Given the description of an element on the screen output the (x, y) to click on. 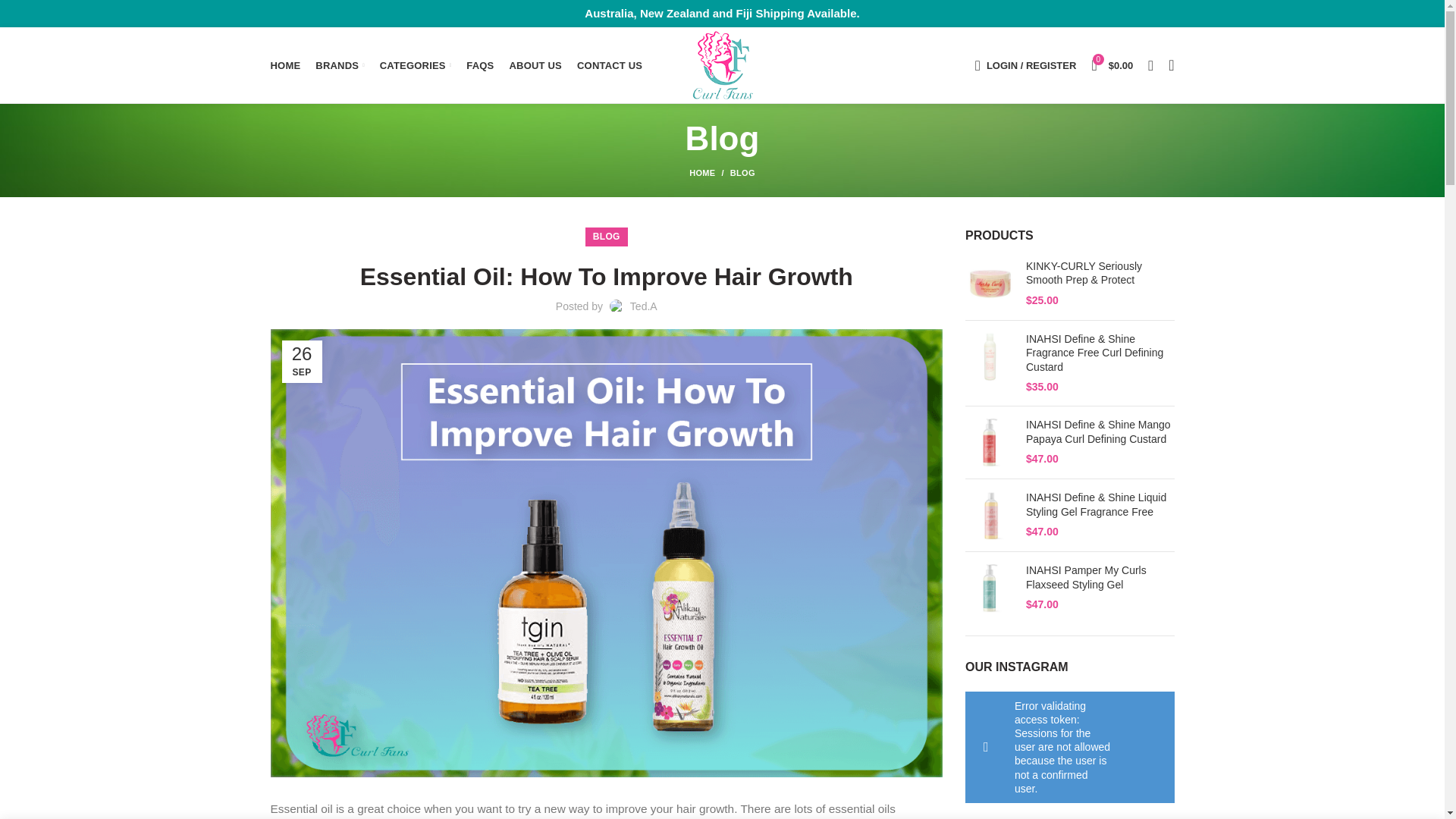
CATEGORIES (416, 64)
BRANDS (339, 64)
CONTACT US (609, 64)
Shopping cart (1111, 64)
FAQS (479, 64)
ABOUT US (534, 64)
My account (1025, 64)
HOME (284, 64)
Log in (950, 302)
